Given the description of an element on the screen output the (x, y) to click on. 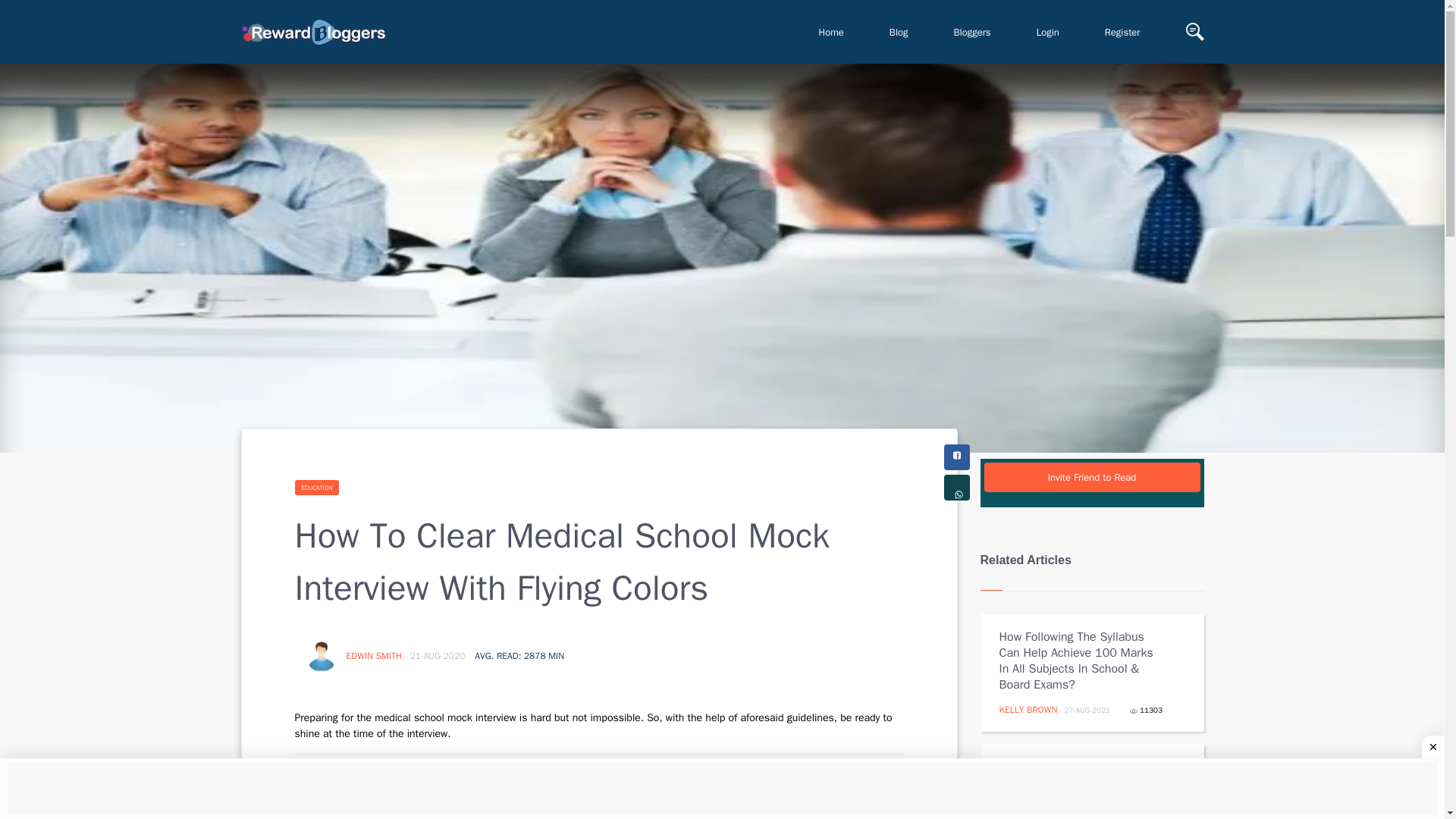
Advertisement (722, 790)
EDWIN SMITH (375, 655)
EDUCATION (316, 487)
Register (1122, 31)
Invite Friend to Read (1091, 477)
Blog (898, 31)
KELLY BROWN (1028, 709)
Login (1047, 31)
